Given the description of an element on the screen output the (x, y) to click on. 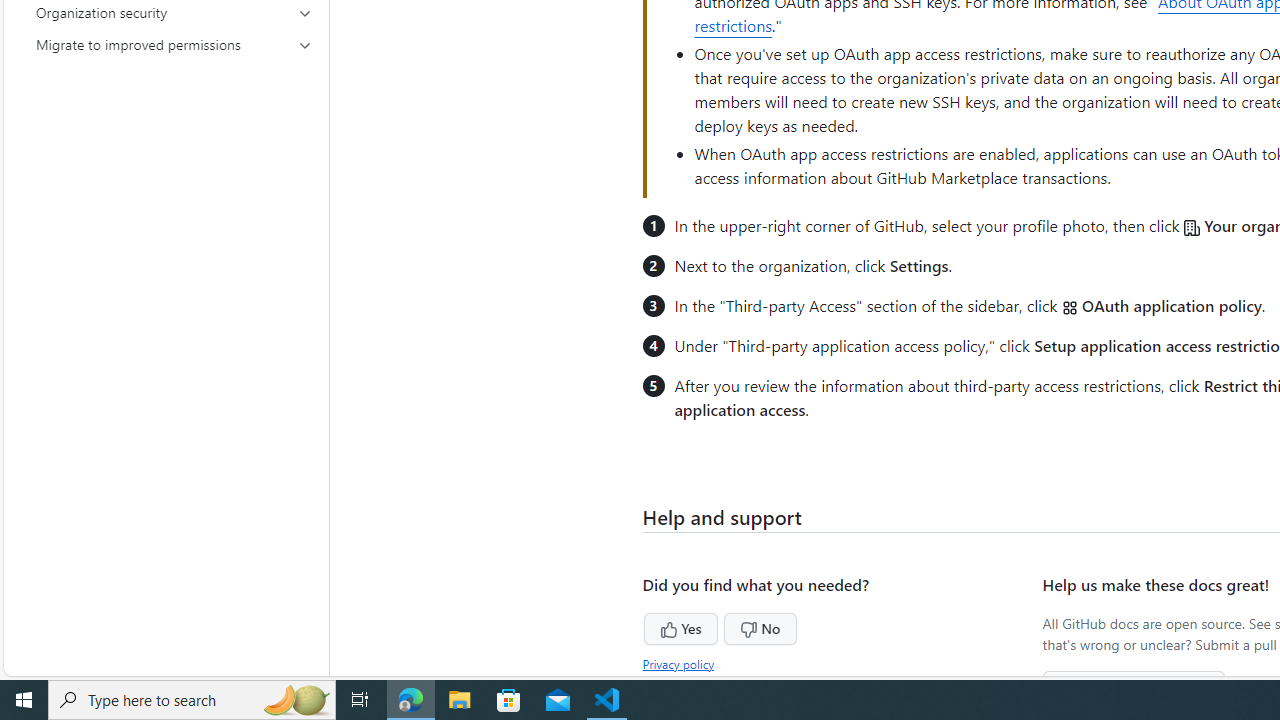
Migrate to improved permissions (174, 44)
Privacy policy (678, 663)
Yes (643, 625)
No (722, 625)
Make a contribution (1133, 686)
Migrate to improved permissions (174, 44)
